Given the description of an element on the screen output the (x, y) to click on. 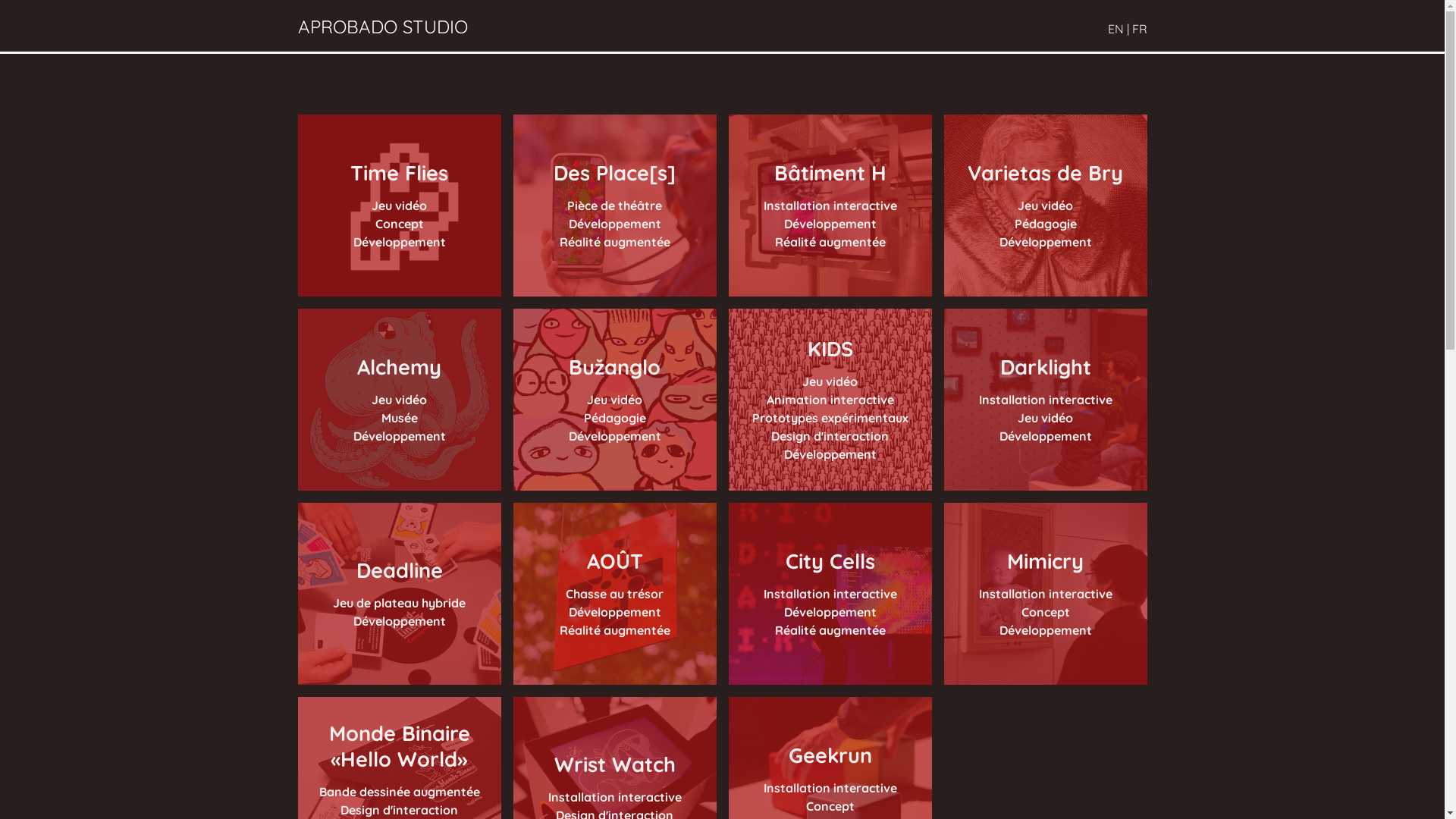
EN Element type: text (1115, 28)
APROBADO STUDIO Element type: text (382, 26)
